Given the description of an element on the screen output the (x, y) to click on. 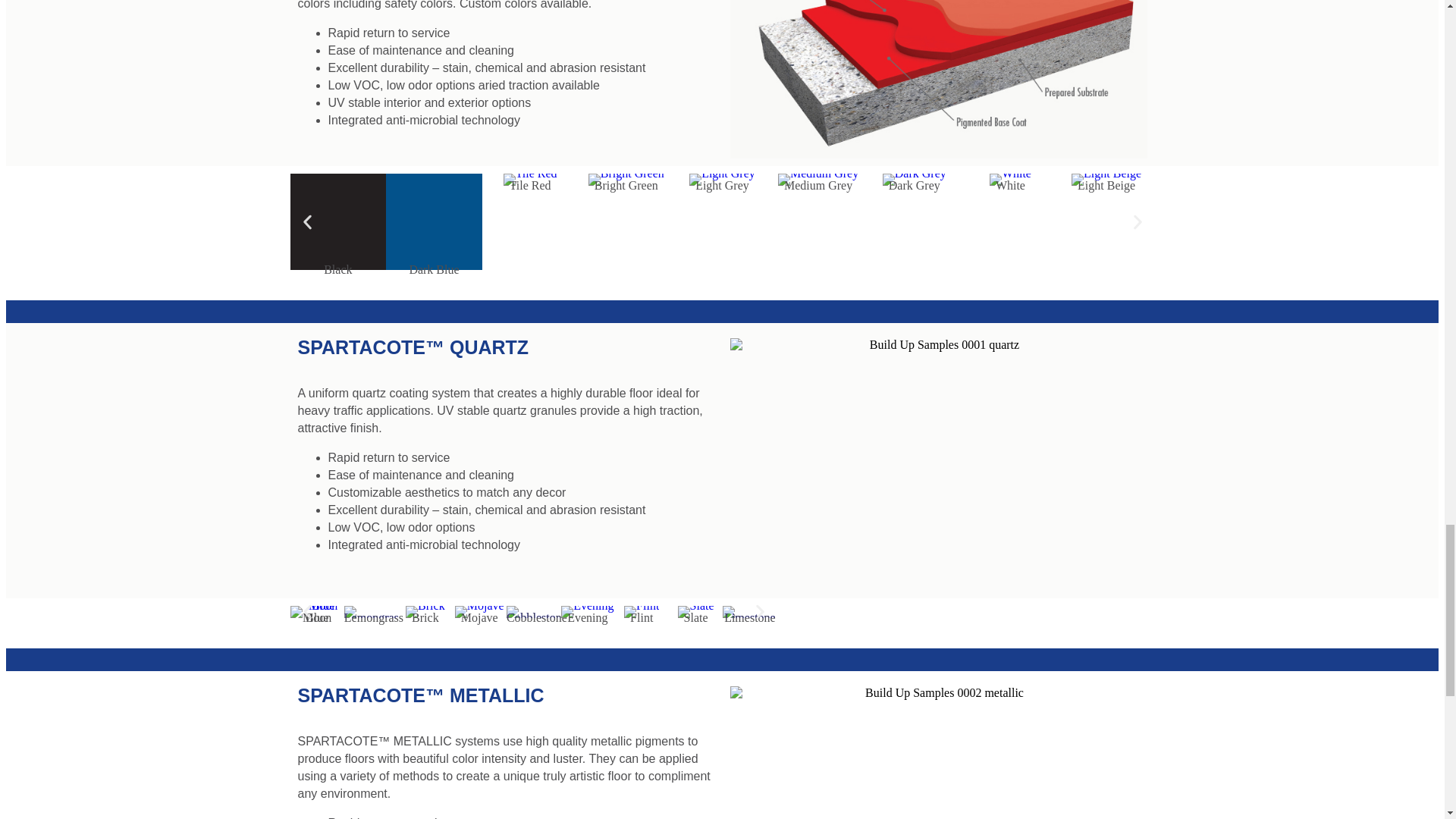
Evening (587, 612)
Dark Grey (914, 179)
Black (337, 221)
Limestone (749, 612)
Tile Red (529, 179)
Light Grey (722, 179)
Blue Moon (316, 612)
Light Beige (1106, 179)
Flint (641, 612)
Dark Blue (433, 221)
Garage Floor Coatings 4 (433, 221)
Mojave (479, 612)
Cobblestone (533, 612)
Bright Green (626, 179)
White (1010, 179)
